Given the description of an element on the screen output the (x, y) to click on. 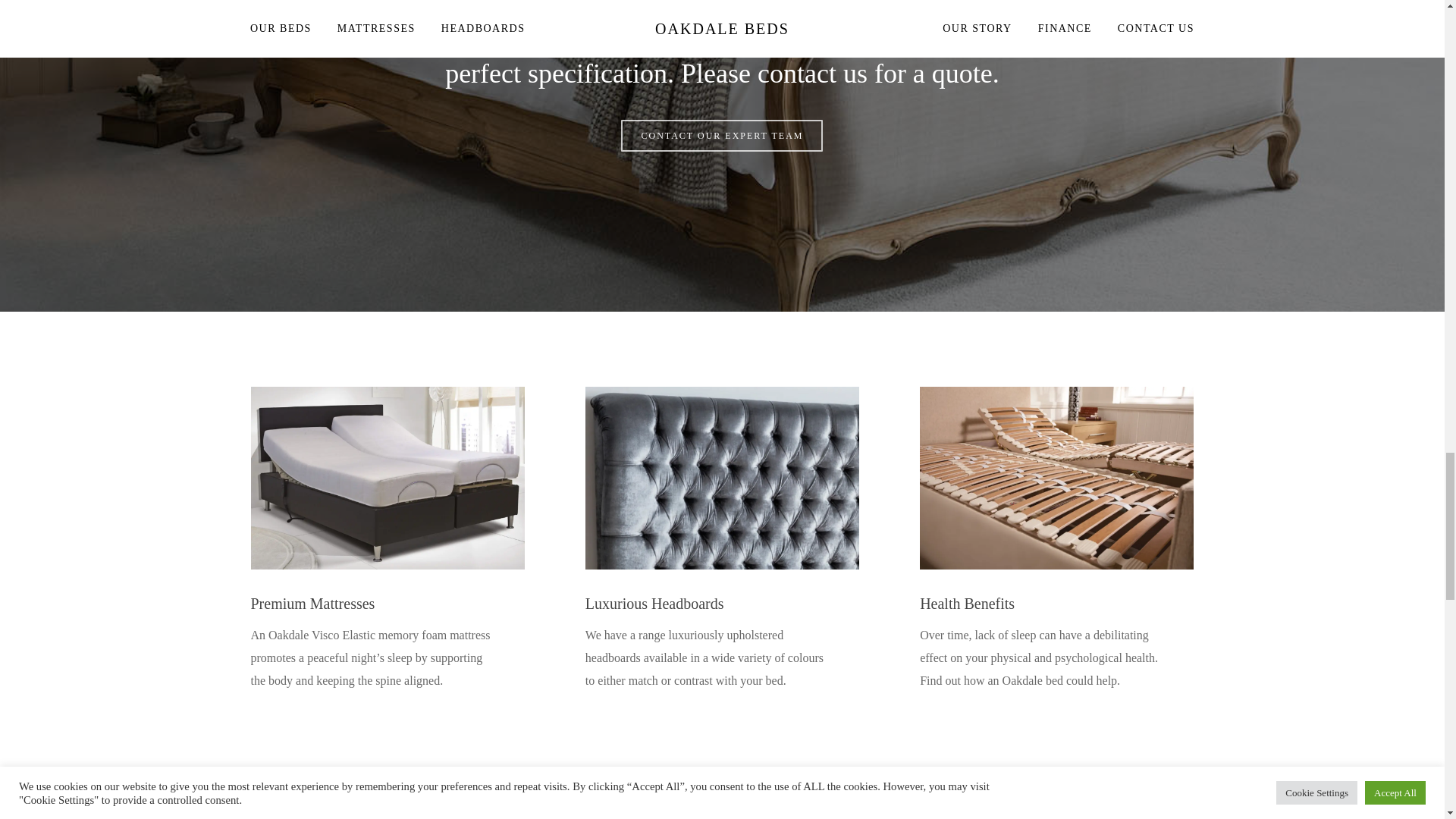
CONTACT OUR EXPERT TEAM (721, 135)
